Given the description of an element on the screen output the (x, y) to click on. 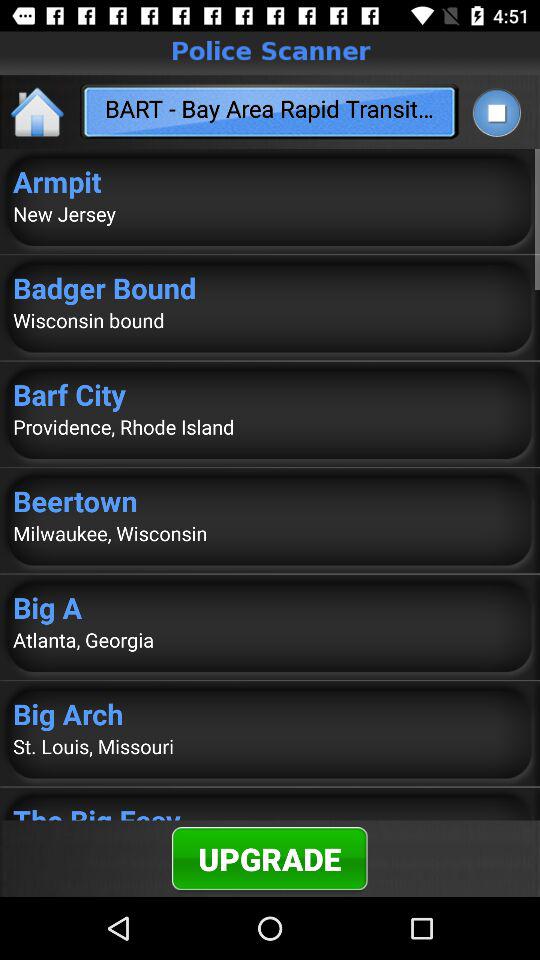
scroll to wisconsin bound item (269, 320)
